Given the description of an element on the screen output the (x, y) to click on. 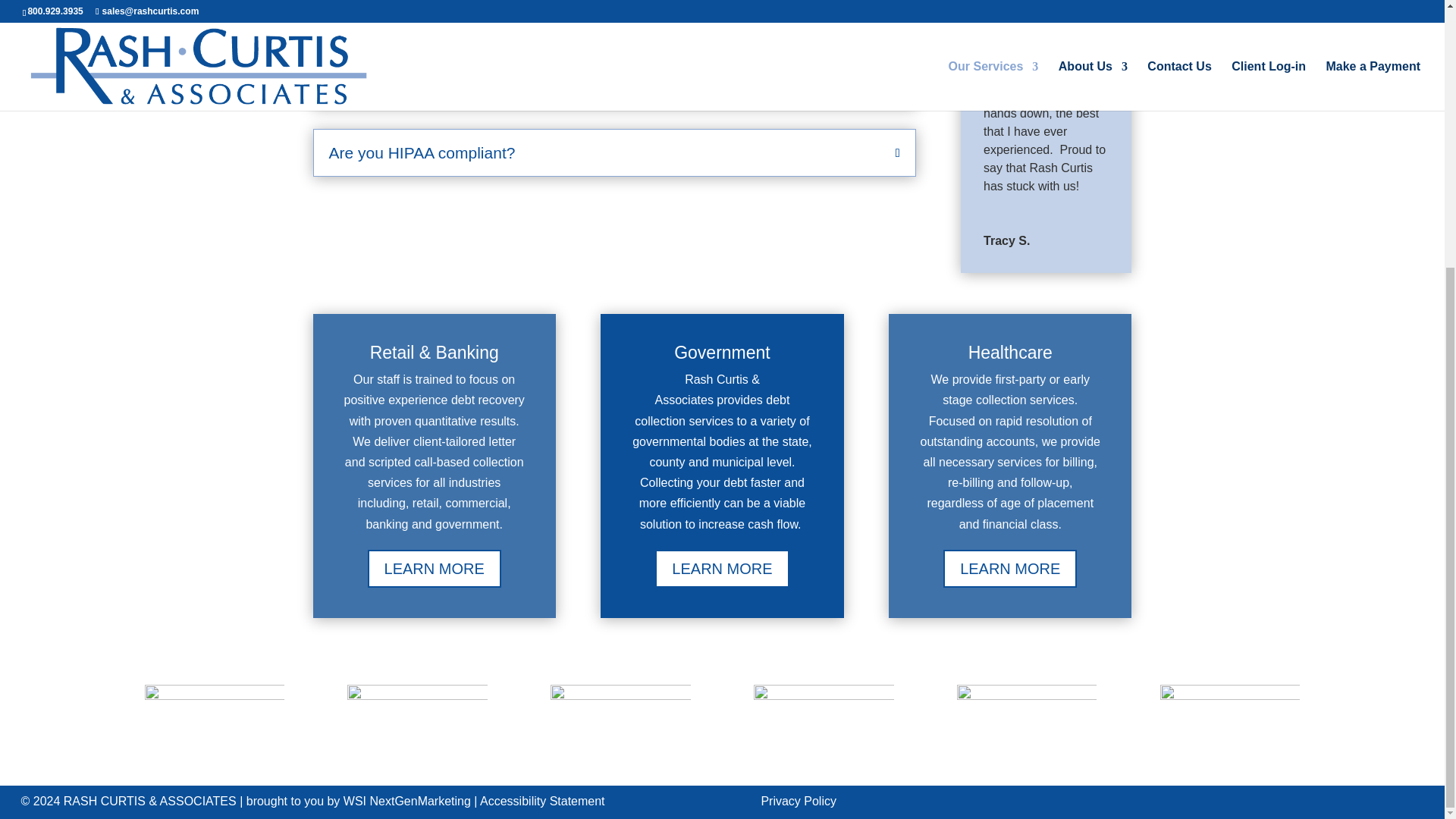
bbb-100 (620, 731)
LEARN MORE (434, 568)
LEARN MORE (1010, 568)
Privacy Policy (797, 800)
hrma-100 (1230, 731)
hbma-100 (213, 731)
aca-100 (823, 731)
LEARN MORE (722, 568)
Accessibility Statement  (544, 800)
cac-100 (416, 731)
